Given the description of an element on the screen output the (x, y) to click on. 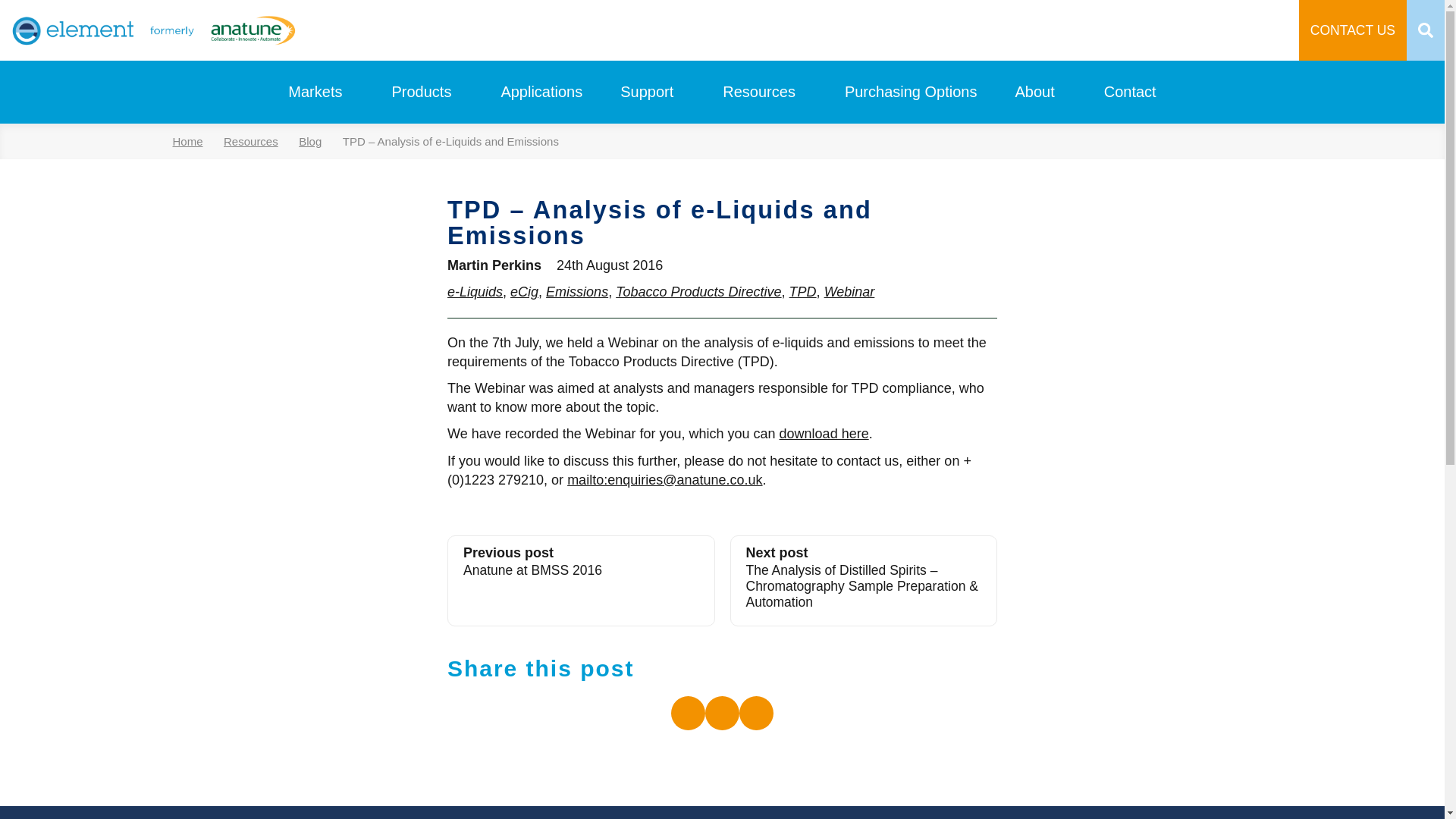
Resources (259, 141)
Support (647, 92)
Home (195, 141)
LinkedIn (687, 713)
Blog (317, 141)
Contact (1129, 92)
Blog (317, 141)
About (1034, 92)
e-Liquids (474, 291)
Resources (758, 92)
